Given the description of an element on the screen output the (x, y) to click on. 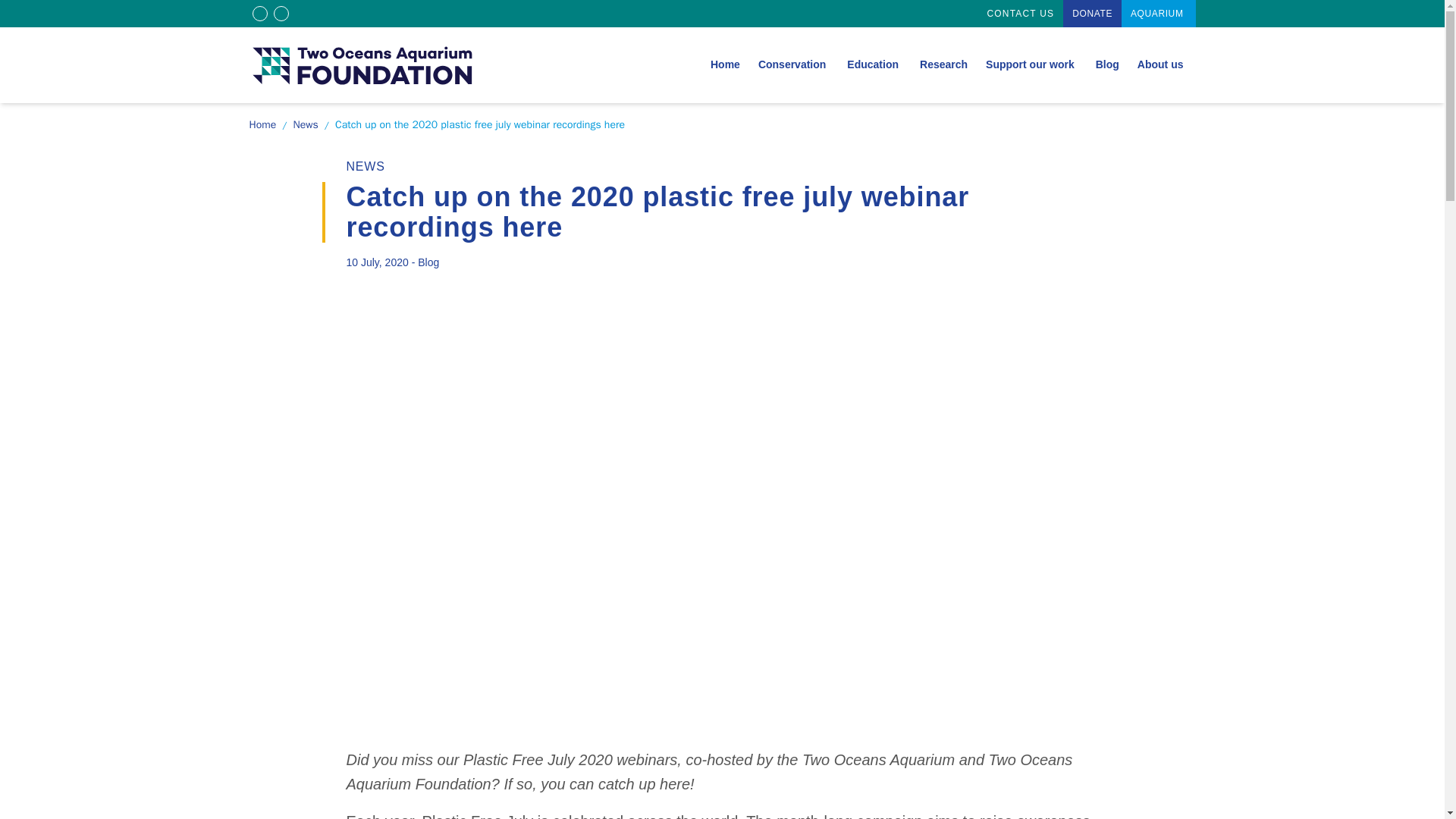
Search (724, 64)
Go to home page (1161, 64)
News (969, 13)
NEWS (362, 64)
Home (306, 124)
AQUARIUM (1020, 13)
DONATE (365, 165)
facebook (262, 124)
linkedin (874, 64)
